Given the description of an element on the screen output the (x, y) to click on. 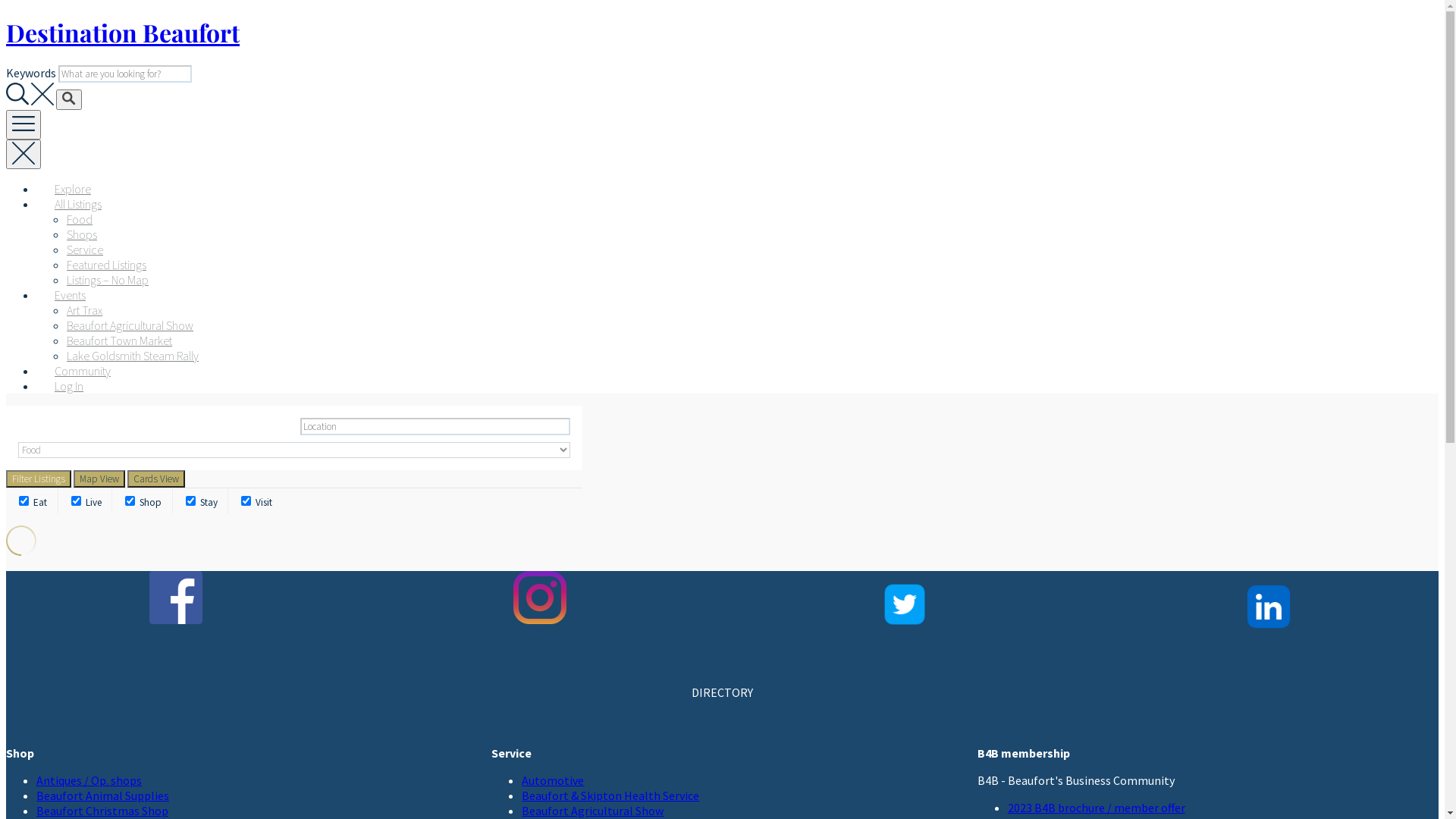
Beaufort & Skipton Health Service Element type: text (610, 795)
Destination Beaufort Element type: text (122, 31)
Automotive Element type: text (552, 779)
Food Element type: text (79, 218)
Featured Listings Element type: text (106, 264)
Skip to content Element type: text (5, 15)
Beaufort Agricultural Show Element type: text (592, 810)
Beaufort Town Market Element type: text (119, 340)
Antiques / Op. shops Element type: text (88, 779)
All Listings Element type: text (77, 203)
Log In Element type: text (68, 385)
Map View Element type: text (99, 478)
Art Trax Element type: text (84, 309)
Filter Listings Element type: text (38, 478)
Service Element type: text (84, 249)
Lake Goldsmith Steam Rally Element type: text (132, 355)
Beaufort Animal Supplies Element type: text (102, 795)
Cards View Element type: text (156, 478)
Events Element type: text (69, 294)
Beaufort Agricultural Show Element type: text (129, 324)
Community Element type: text (82, 370)
Beaufort Christmas Shop Element type: text (102, 810)
Explore Element type: text (72, 188)
Shops Element type: text (81, 233)
2023 B4B brochure / member offer Element type: text (1096, 807)
